Given the description of an element on the screen output the (x, y) to click on. 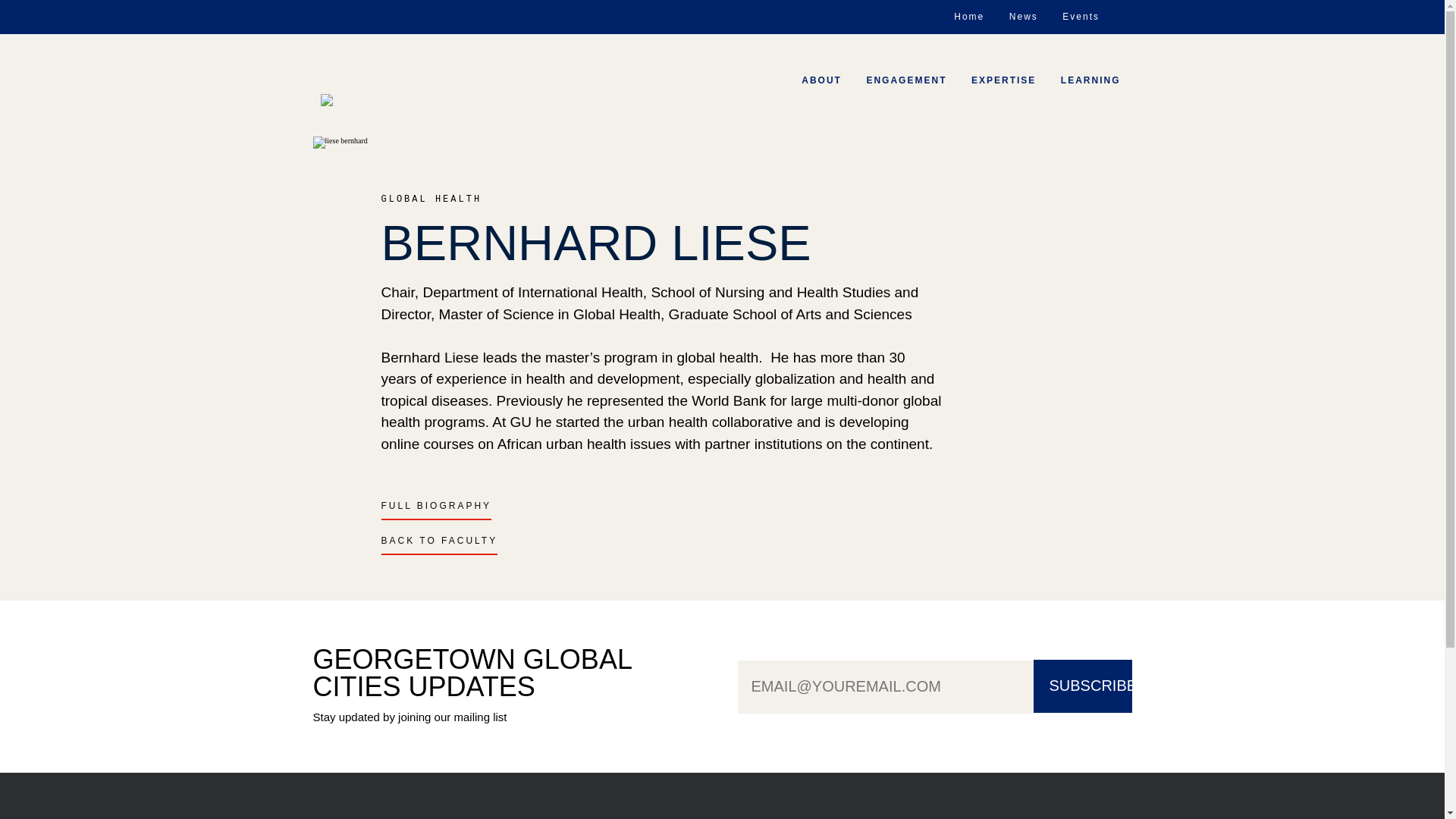
SUBSCRIBE (1081, 686)
LEARNING (1090, 80)
ABOUT (821, 80)
EXPERTISE (1002, 80)
News (1023, 16)
Home (968, 16)
FULL BIOGRAPHY (436, 510)
Events (1080, 16)
magnify (1122, 14)
BACK TO FACULTY (438, 545)
